Given the description of an element on the screen output the (x, y) to click on. 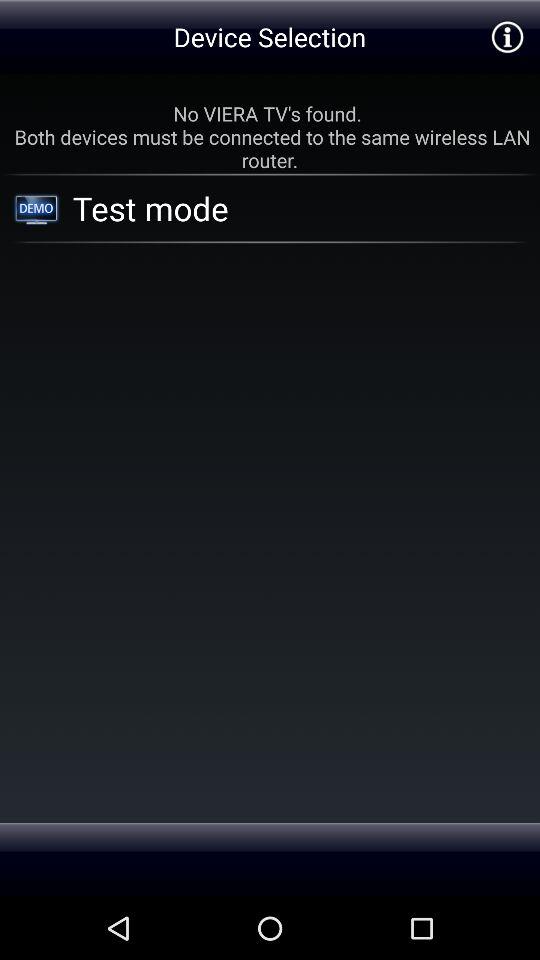
choose app next to the device selection item (506, 36)
